Given the description of an element on the screen output the (x, y) to click on. 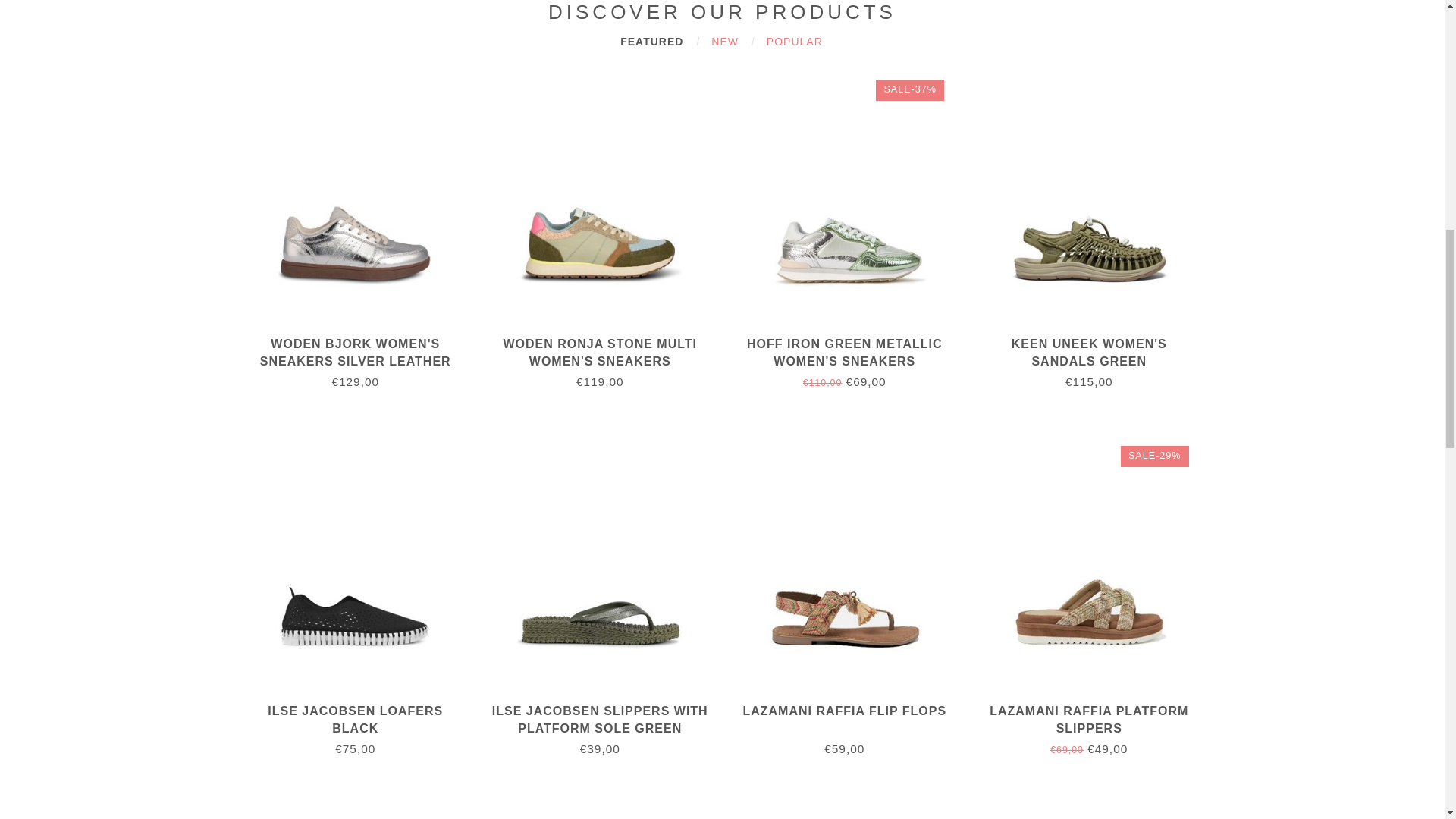
Ilse Jacobsen Ilse Jacobsen loafers black (354, 719)
Hoff Hoff Iron green metallic women's sneakers (855, 208)
Woden Woden Ronja stone multi women's sneakers (611, 208)
Keen Keen Uneek women's sandals green (1089, 352)
Lazamani Lazamani raffia flip flops (844, 710)
Woden Woden Ronja stone multi women's sneakers (599, 352)
Woden Woden Bjork women's sneakers silver leather (355, 352)
Lazamani Lazamani raffia platform slippers (1100, 575)
Lazamani Lazamani raffia flip flops (855, 575)
Hoff Hoff Iron green metallic women's sneakers (844, 352)
Woden Woden Bjork women's sneakers silver leather (366, 208)
Ilse Jacobsen Ilse Jacobsen loafers black (366, 575)
Keen Keen Uneek women's sandals green (1100, 208)
